Given the description of an element on the screen output the (x, y) to click on. 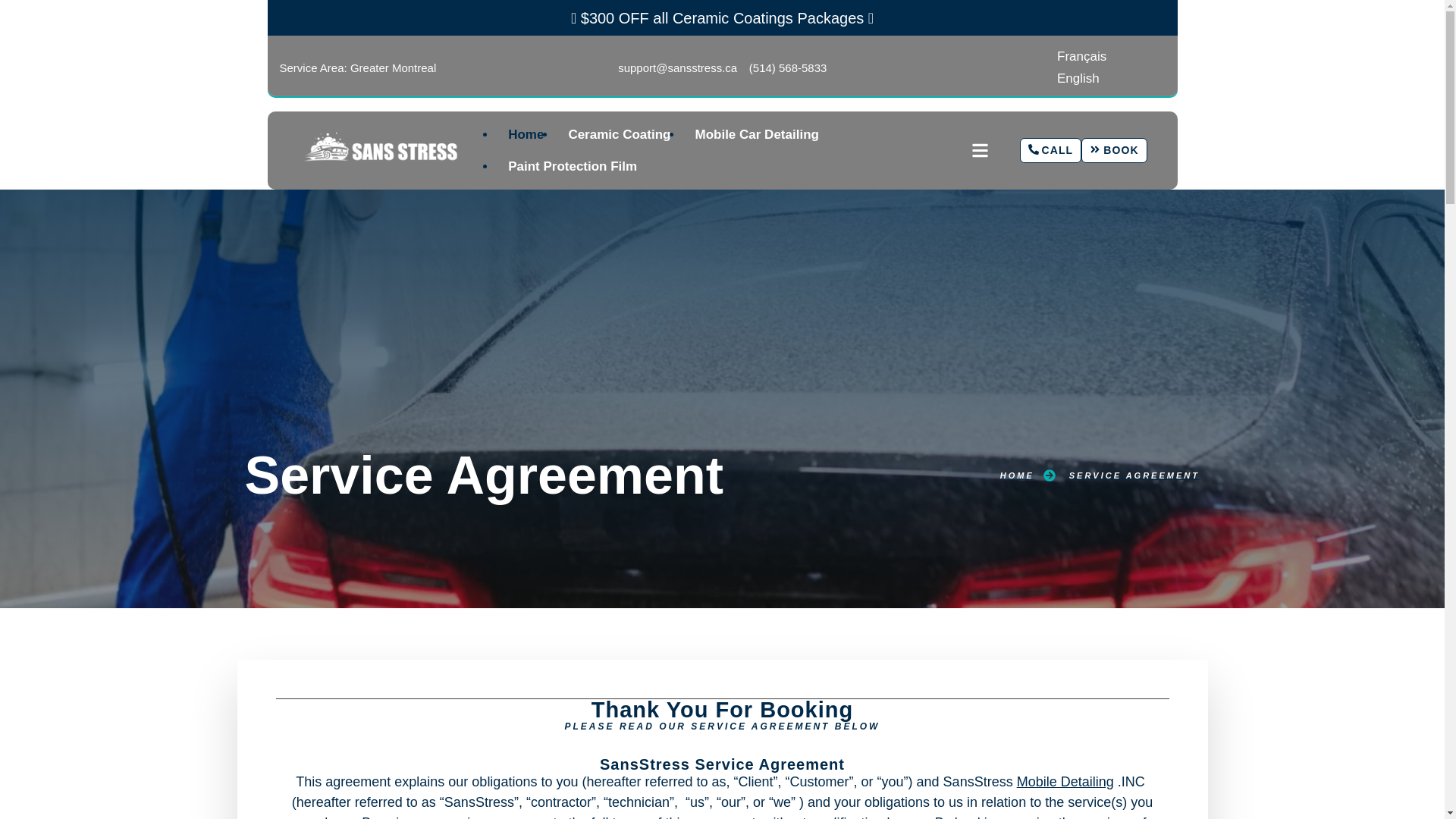
English (1077, 78)
Mobile Car Detailing (756, 134)
Ceramic Coating (618, 134)
Paint Protection Film (572, 166)
BOOK (1114, 150)
Service Area: Greater Montreal (357, 67)
CALL (1050, 150)
Home (525, 134)
